Given the description of an element on the screen output the (x, y) to click on. 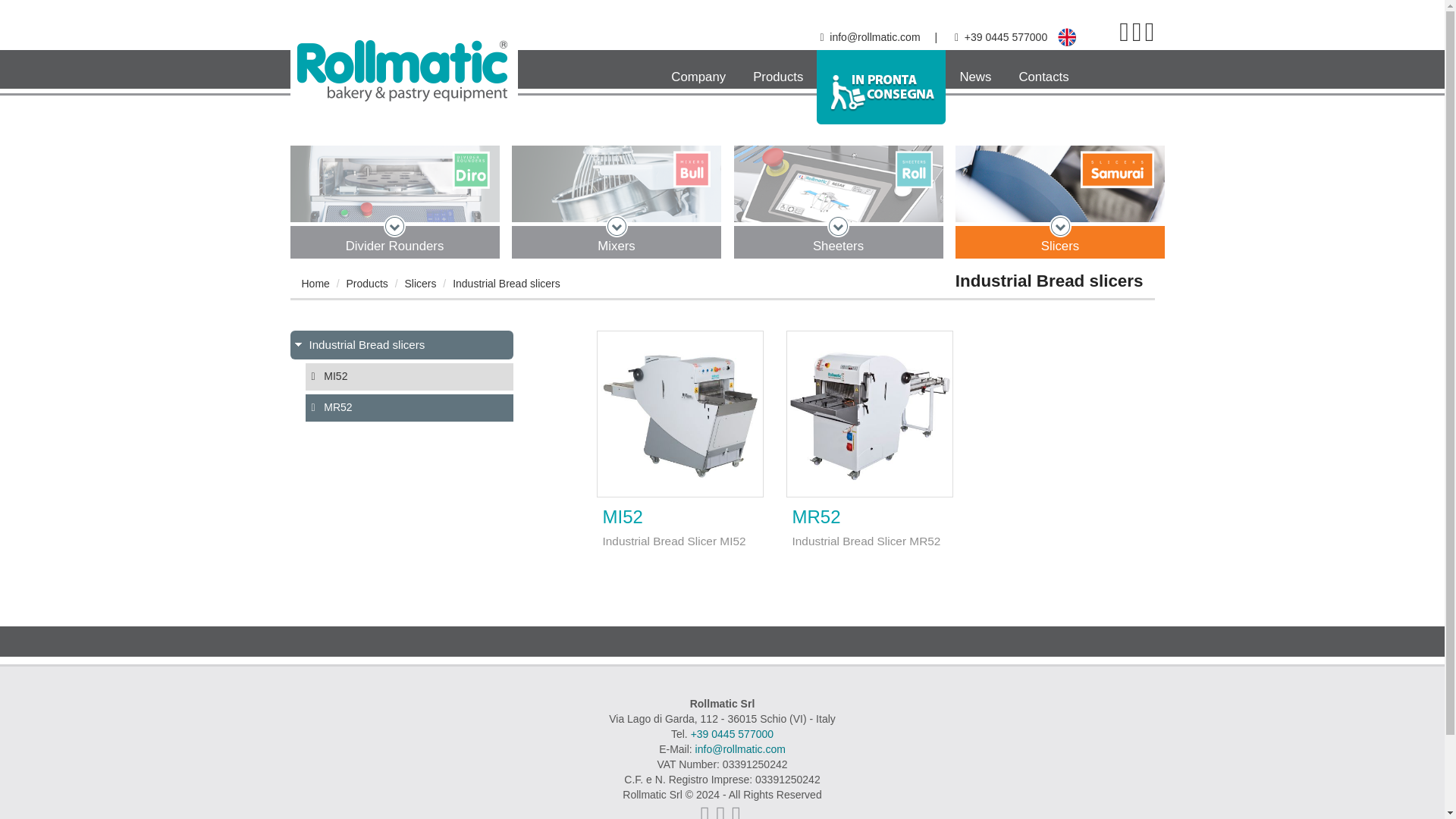
Contacts (1042, 71)
News (974, 71)
Company (698, 71)
Products (777, 71)
